Given the description of an element on the screen output the (x, y) to click on. 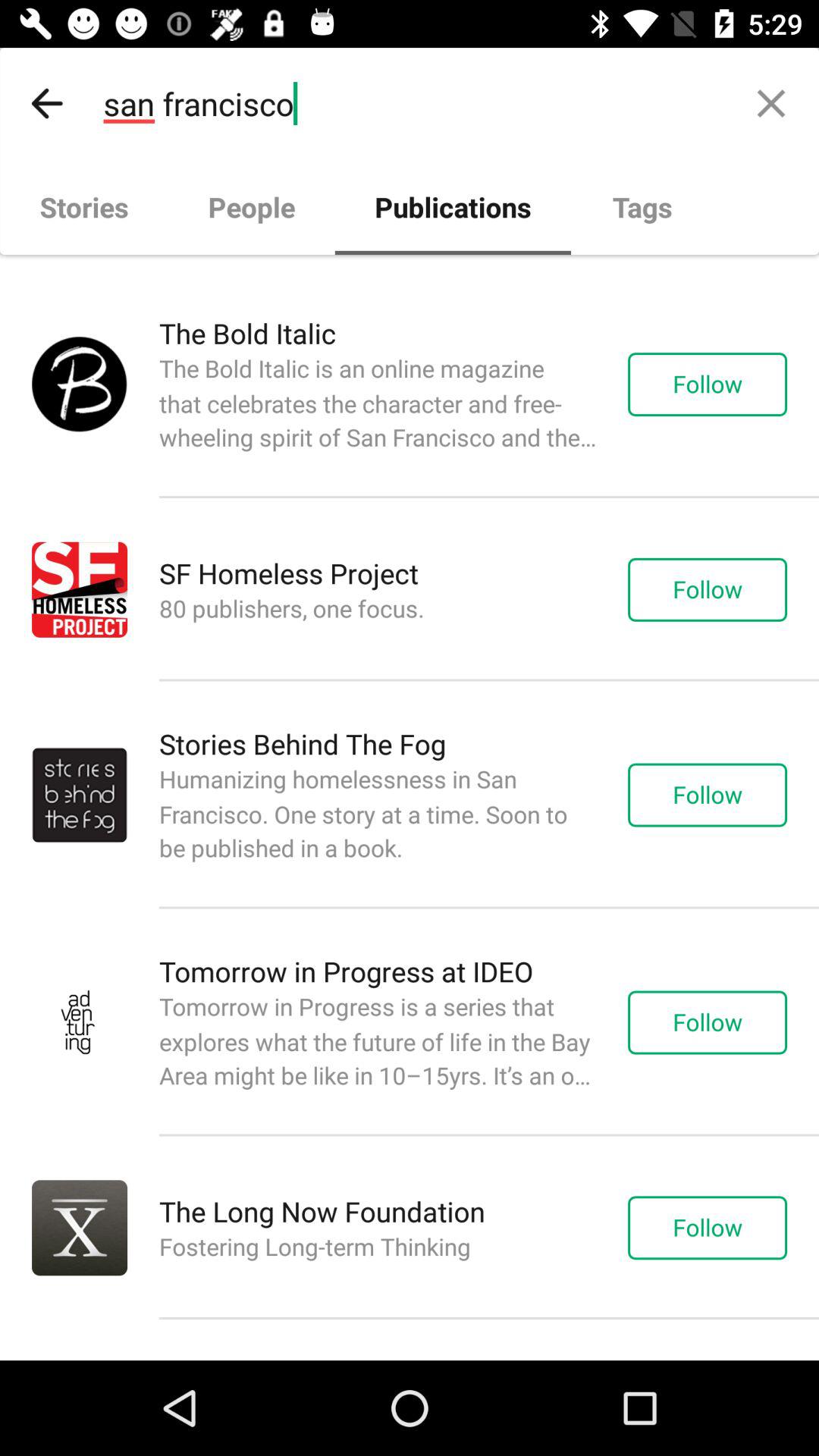
select item next to the san francisco item (47, 103)
